Given the description of an element on the screen output the (x, y) to click on. 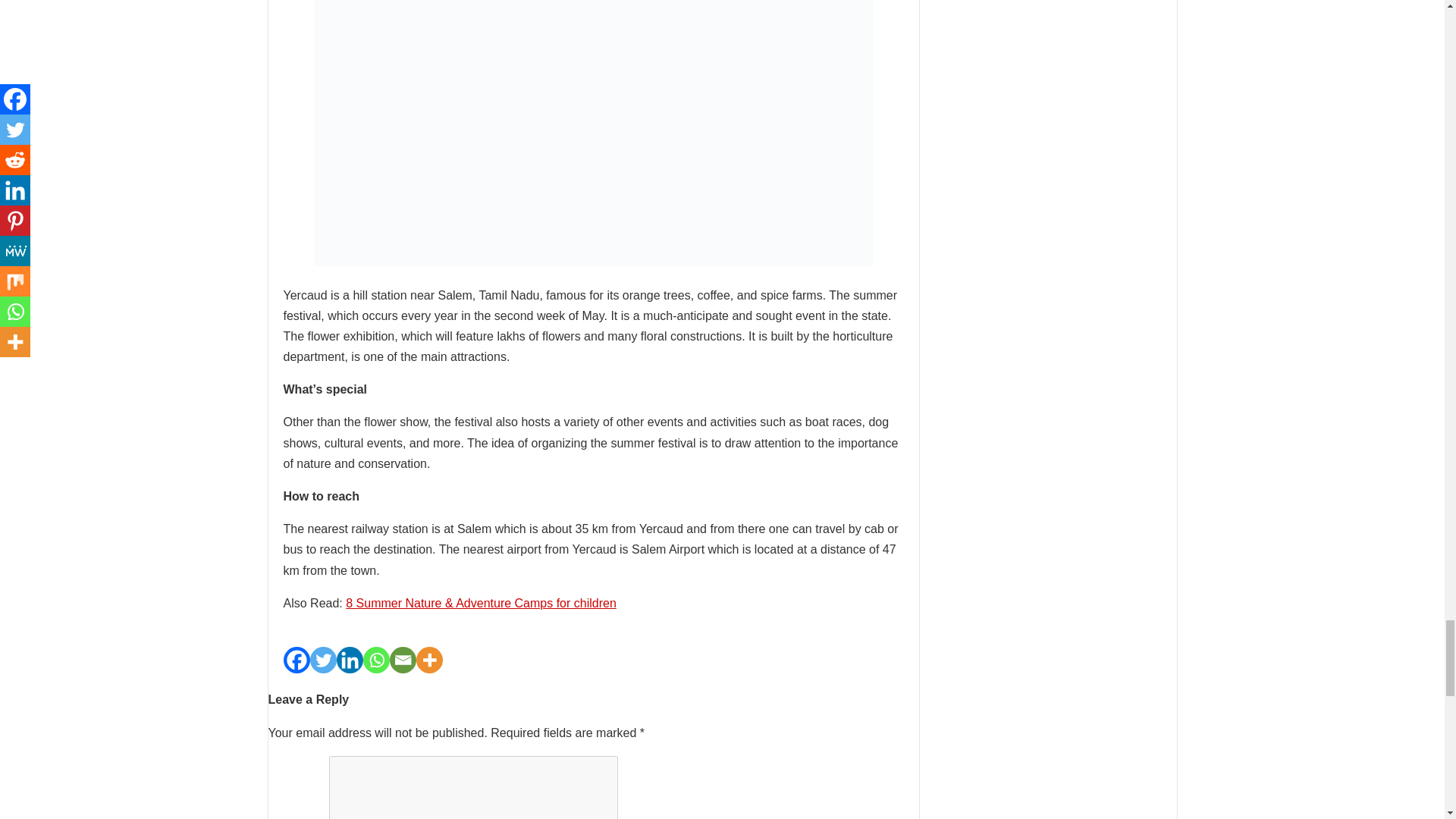
Linkedin (349, 660)
Email (403, 660)
Facebook (296, 660)
Whatsapp (375, 660)
Twitter (322, 660)
